Given the description of an element on the screen output the (x, y) to click on. 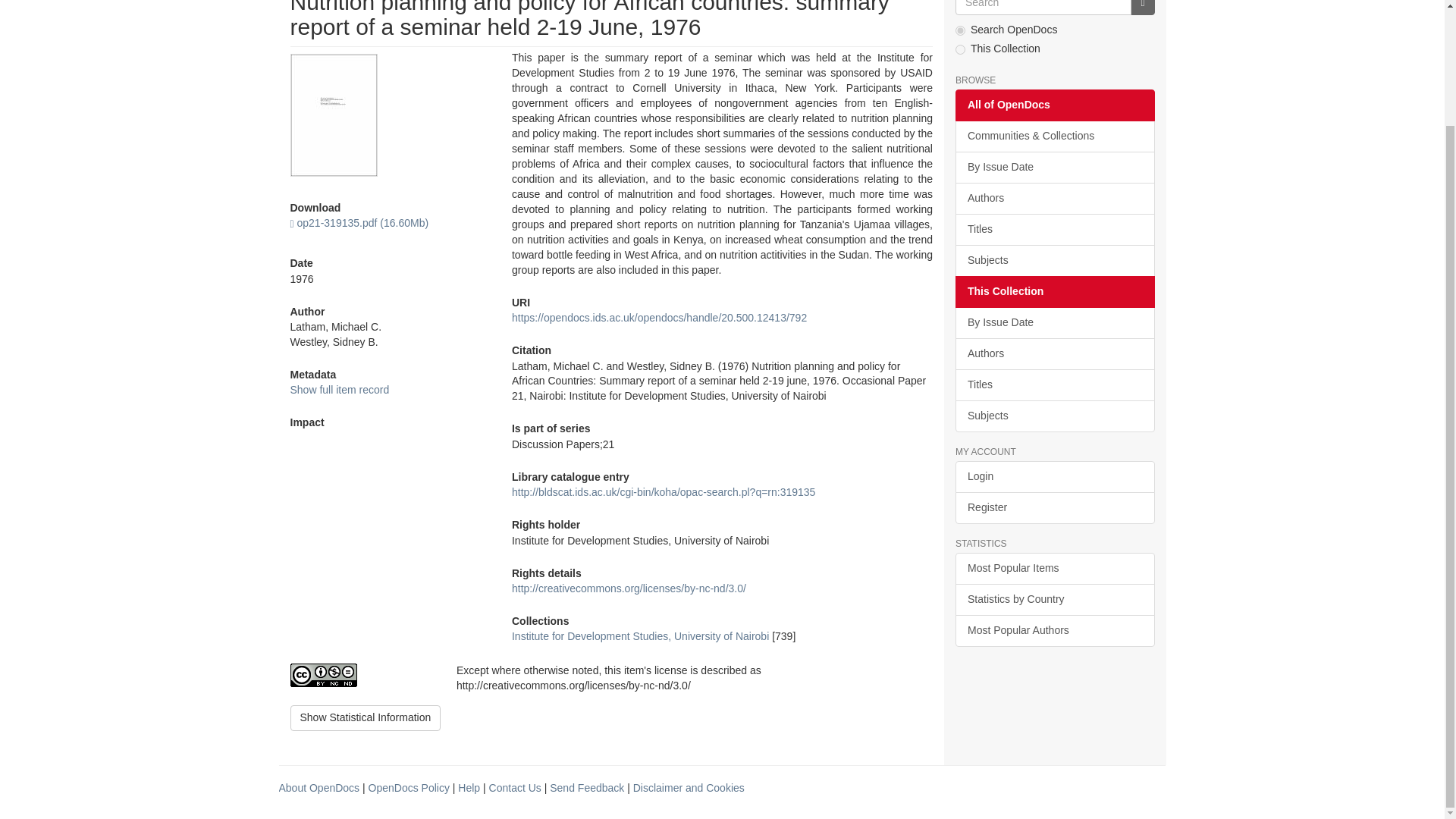
Titles (1054, 229)
By Issue Date (1054, 323)
Institute for Development Studies, University of Nairobi (640, 635)
Authors (1054, 354)
By Issue Date (1054, 167)
This Collection (1054, 291)
Go (1142, 7)
Show full item record (338, 389)
Subjects (1054, 260)
Show Statistical Information (365, 718)
Authors (1054, 198)
All of OpenDocs (1054, 105)
